Given the description of an element on the screen output the (x, y) to click on. 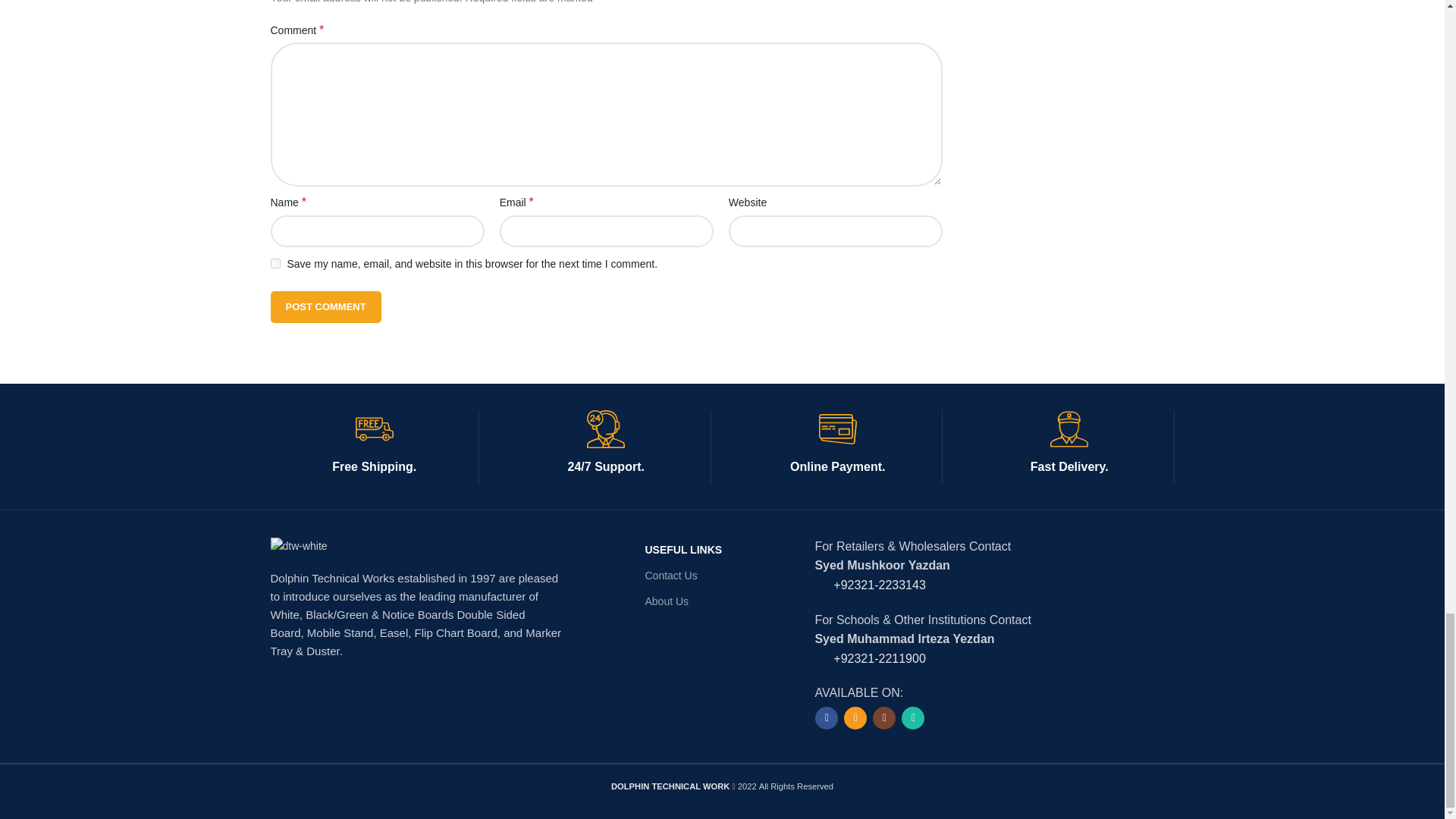
dtw-white (297, 545)
yes (274, 263)
Post Comment (324, 306)
